Given the description of an element on the screen output the (x, y) to click on. 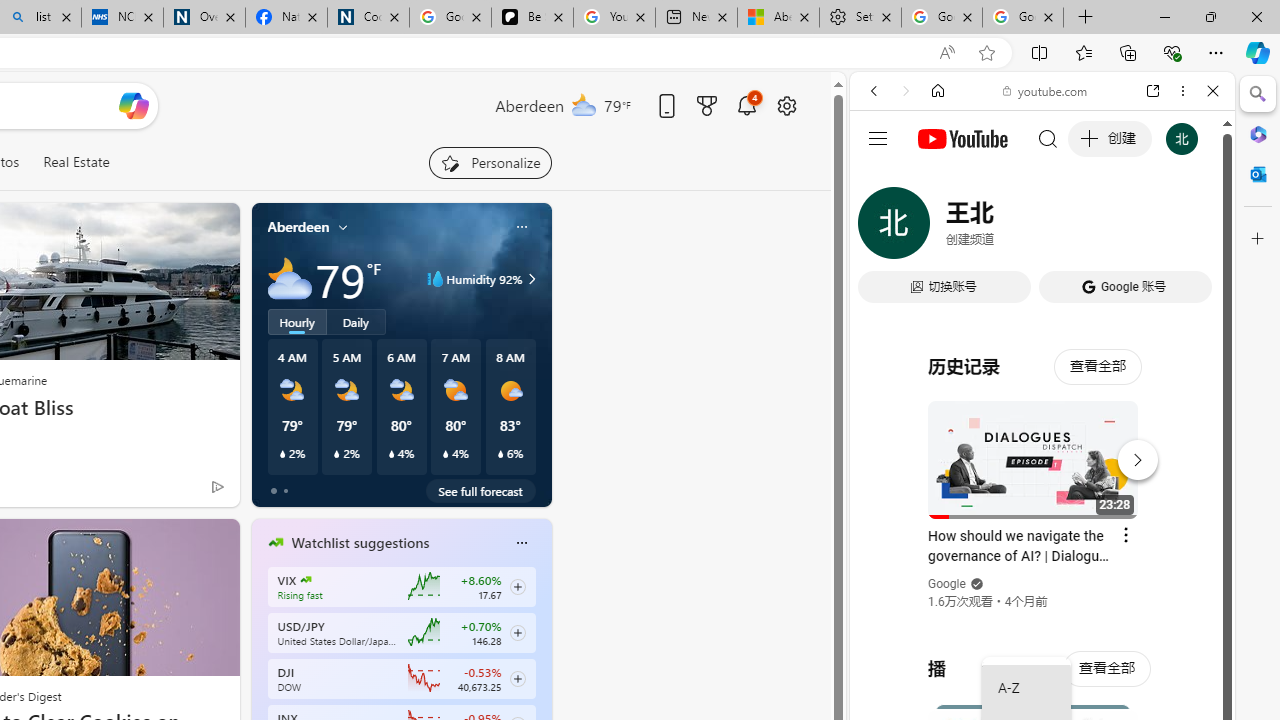
Open link in new tab (1153, 91)
Aberdeen (298, 227)
SEARCH TOOLS (1093, 228)
WEB   (882, 228)
Daily (356, 321)
Mostly cloudy (289, 278)
next (541, 670)
Search Filter, WEB (882, 228)
Be Smart | creating Science videos | Patreon (532, 17)
Class: icon-img (521, 542)
